Given the description of an element on the screen output the (x, y) to click on. 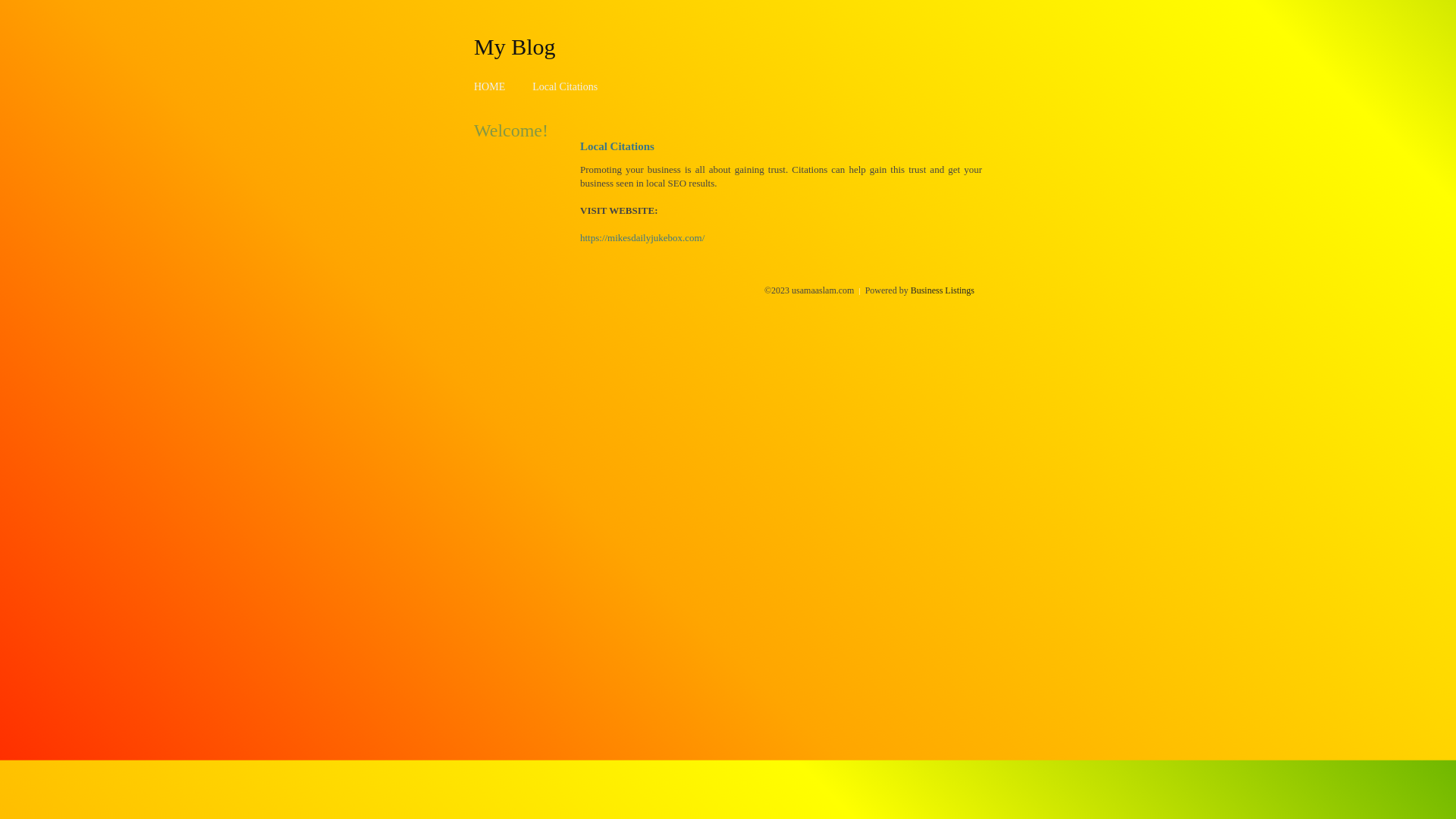
HOME Element type: text (489, 86)
Local Citations Element type: text (564, 86)
My Blog Element type: text (514, 46)
Business Listings Element type: text (942, 290)
https://mikesdailyjukebox.com/ Element type: text (642, 237)
